Given the description of an element on the screen output the (x, y) to click on. 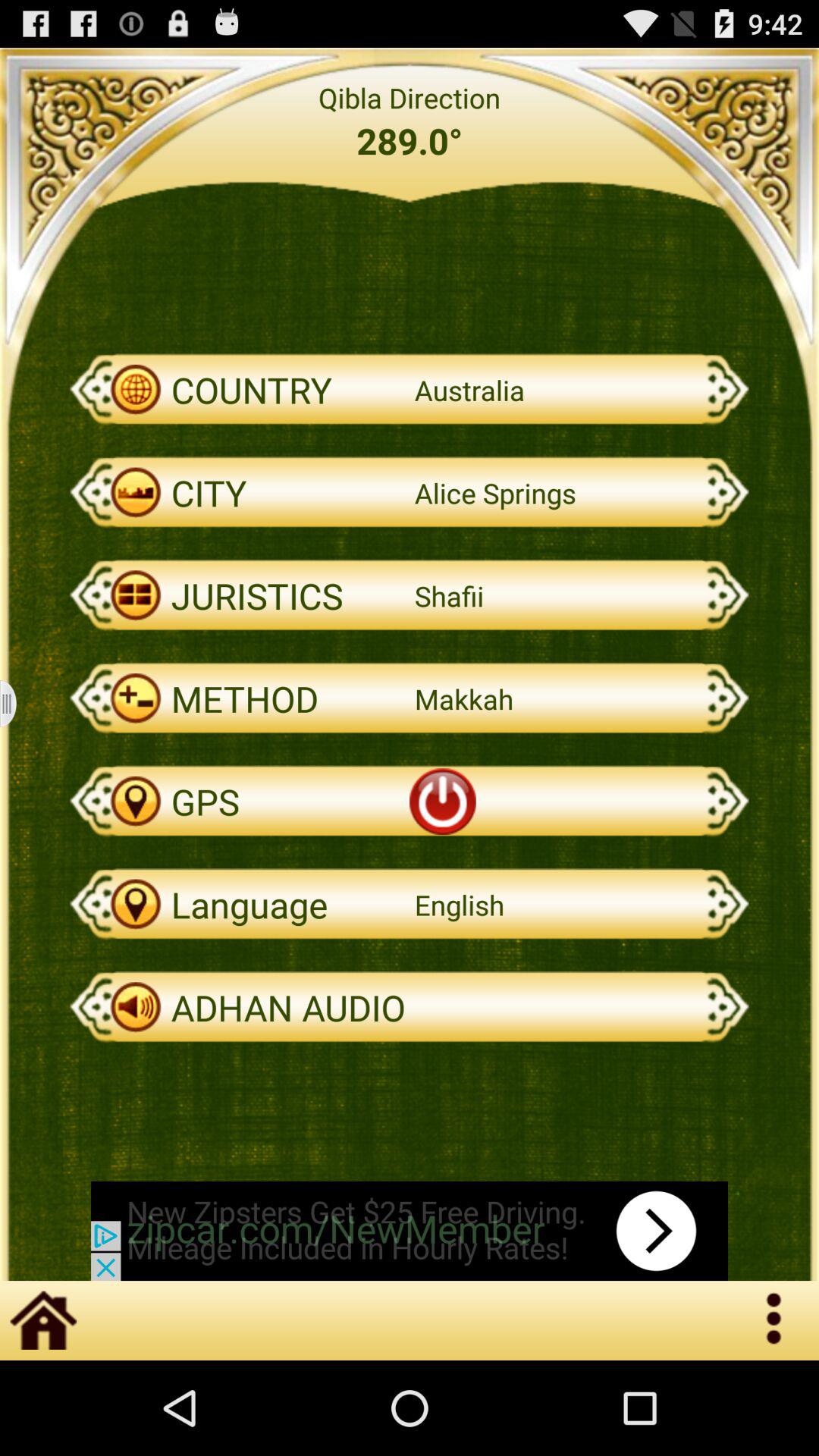
open advertisement (409, 1230)
